Given the description of an element on the screen output the (x, y) to click on. 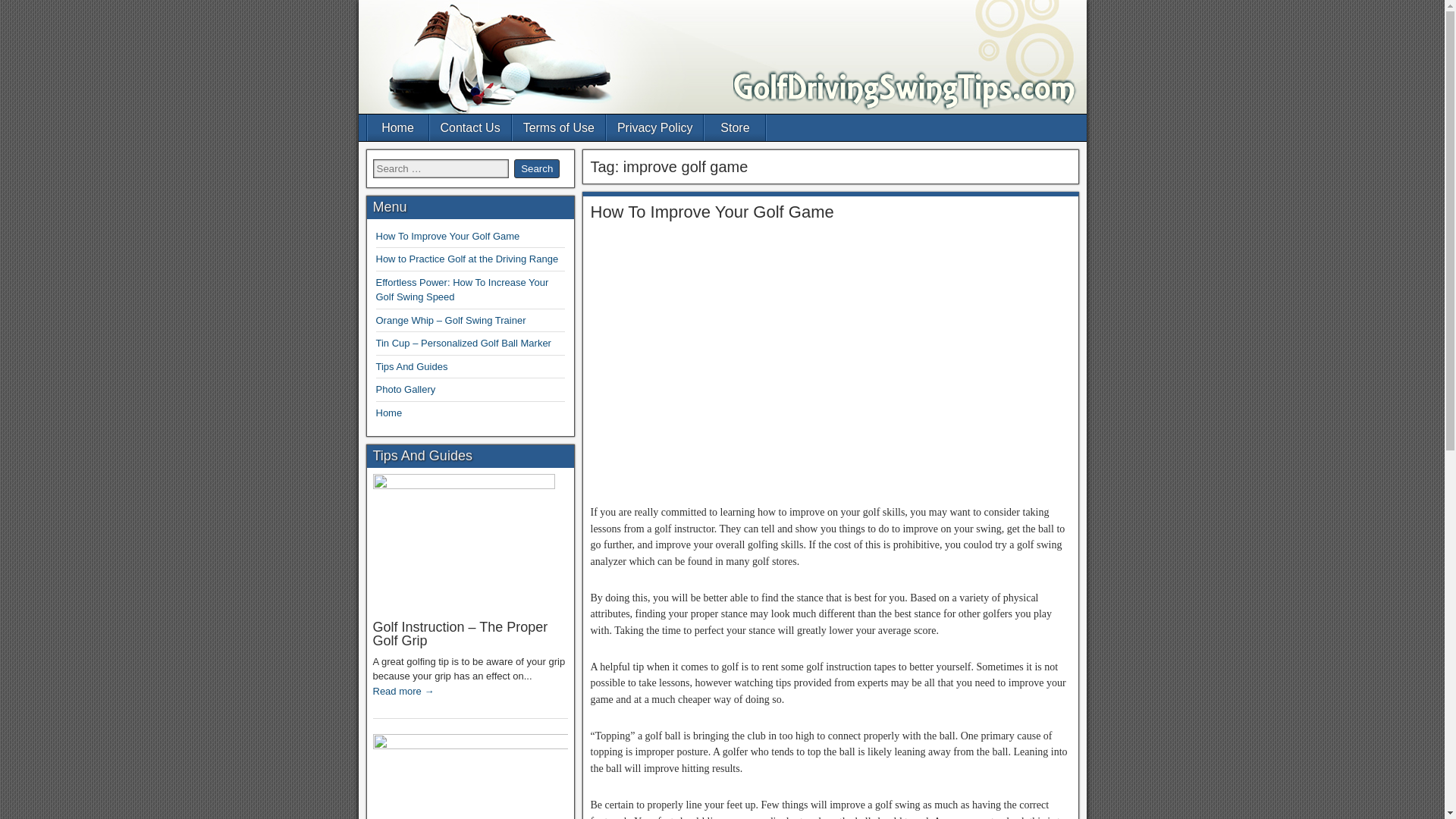
Search (536, 168)
Contact Us (470, 127)
Home (389, 412)
Photo Gallery (405, 389)
Effortless Power: How To Increase Your Golf Swing Speed (461, 289)
Search (536, 168)
Search (536, 168)
Home (397, 127)
Terms of Use (558, 127)
How To Improve Your Golf Game (447, 235)
